Given the description of an element on the screen output the (x, y) to click on. 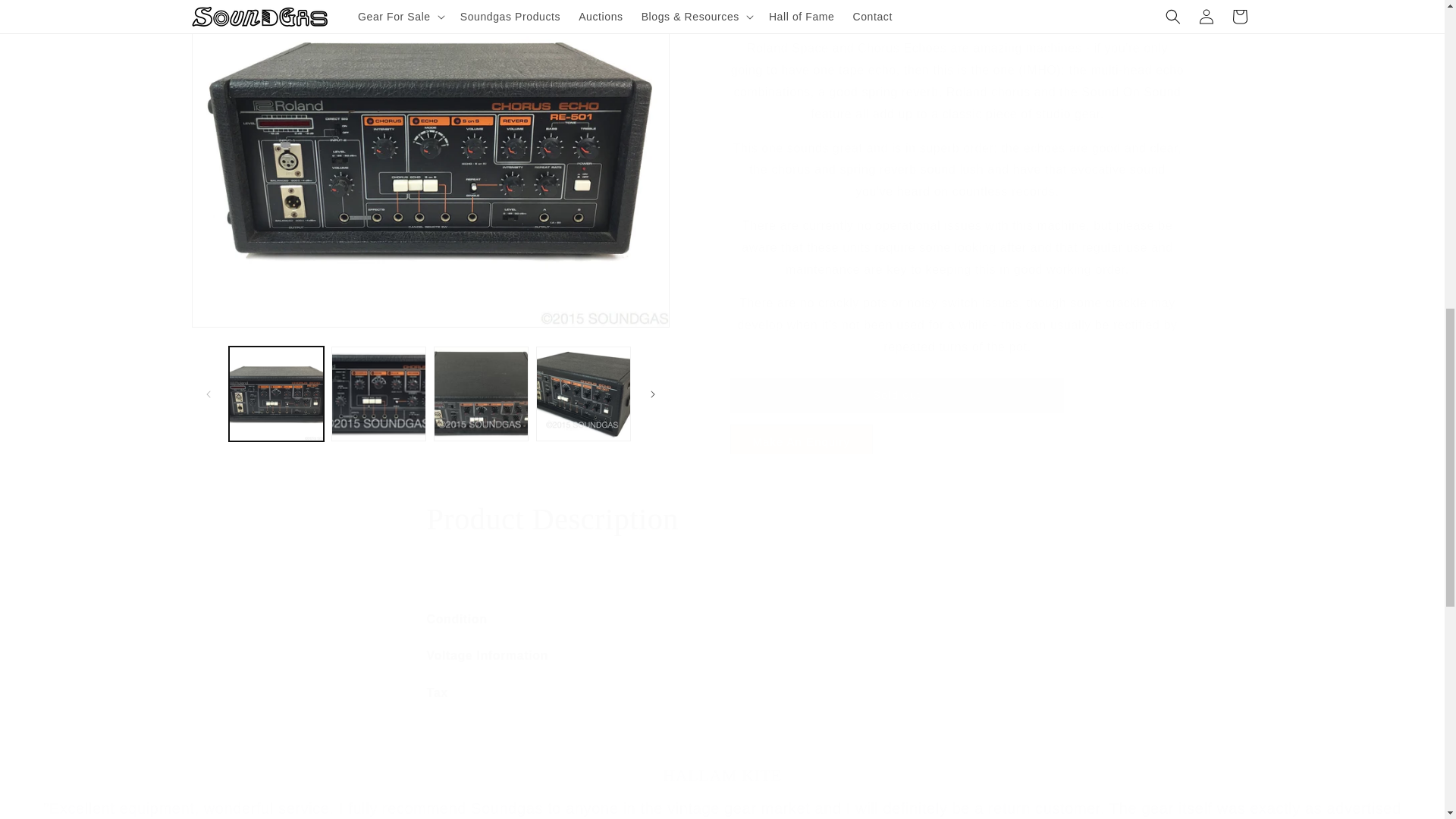
Product Description (721, 518)
Tax (721, 693)
Voltage Information (721, 656)
Condition (721, 619)
